Given the description of an element on the screen output the (x, y) to click on. 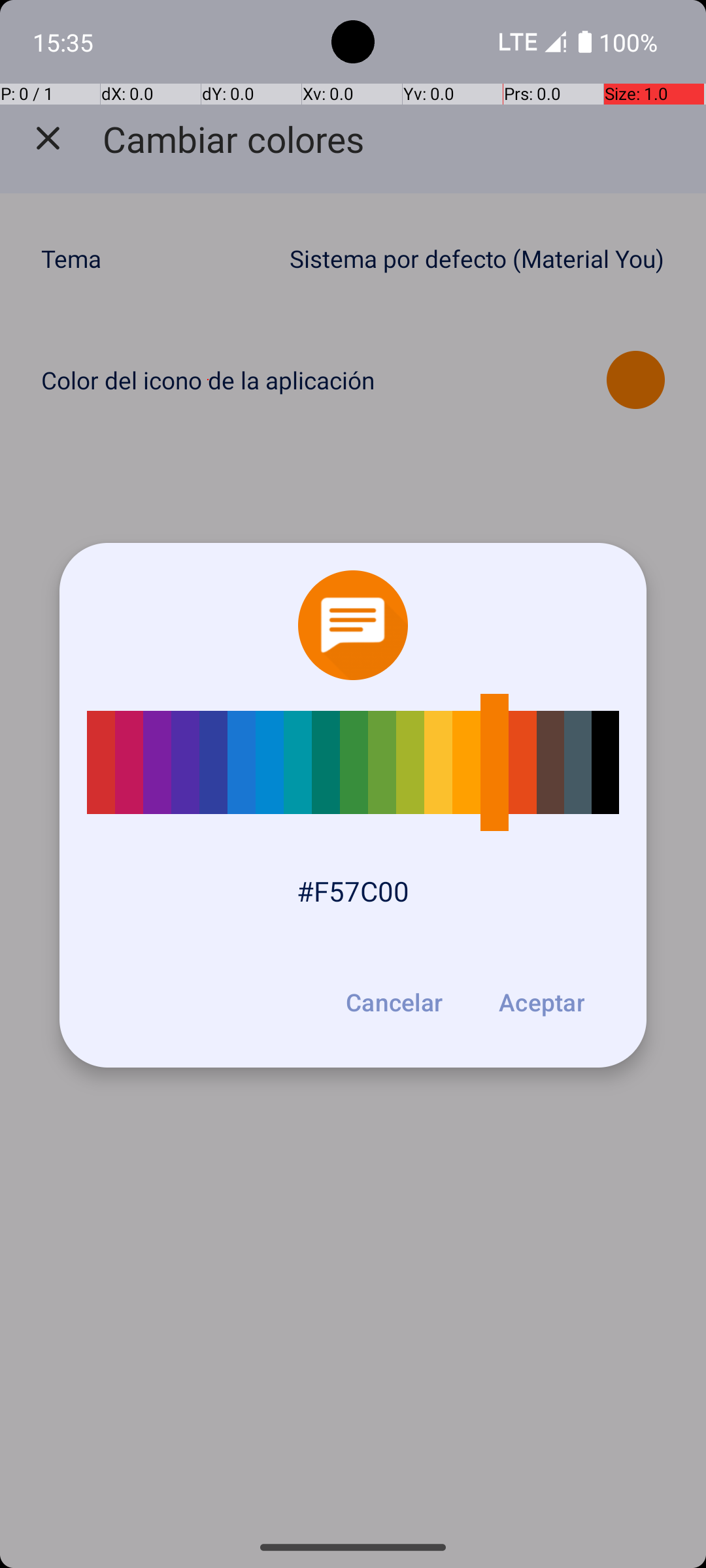
#F57C00 Element type: android.widget.TextView (352, 890)
